Given the description of an element on the screen output the (x, y) to click on. 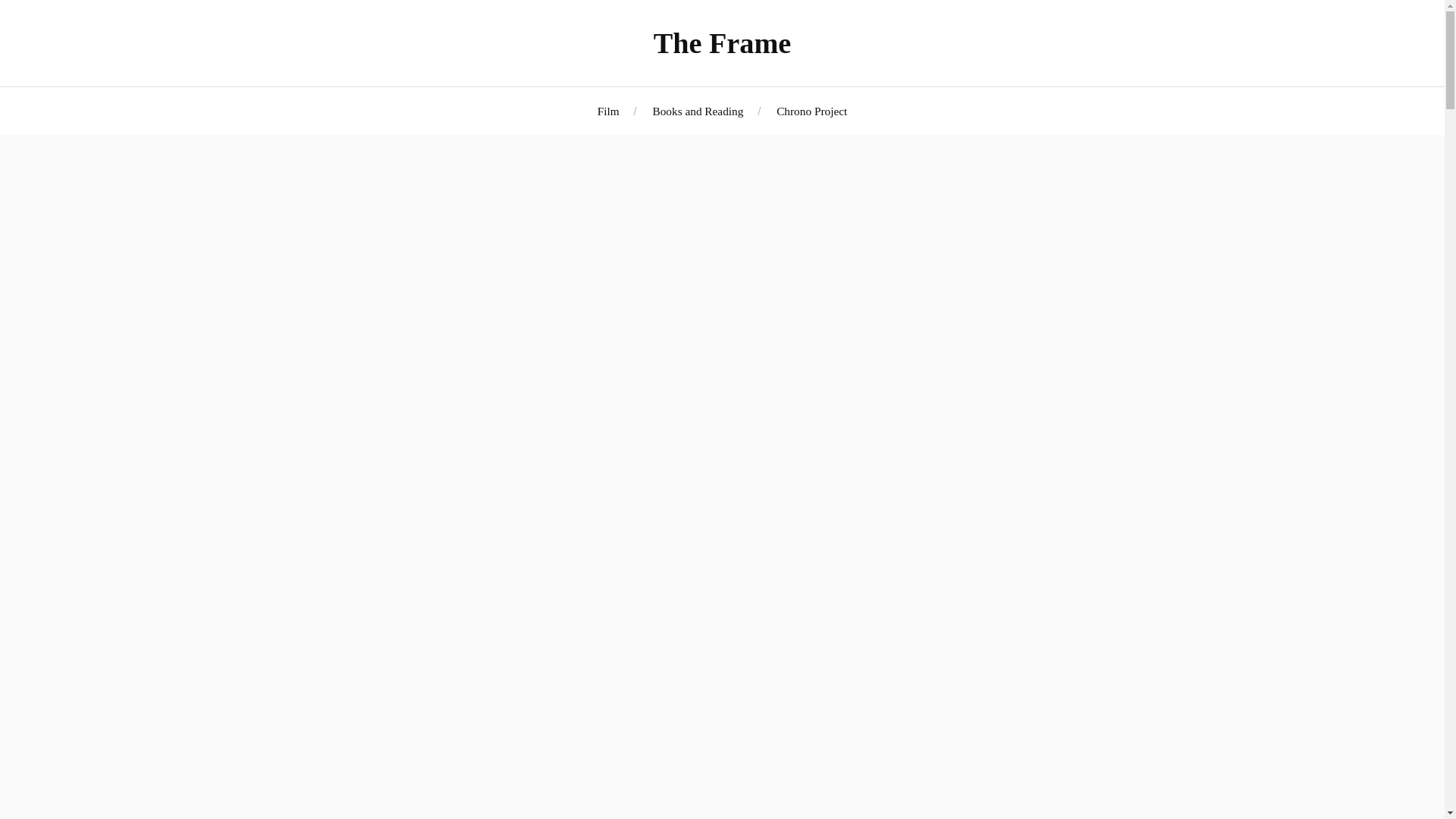
The Frame (722, 42)
Books and Reading (698, 110)
Chrono Project (811, 110)
